Given the description of an element on the screen output the (x, y) to click on. 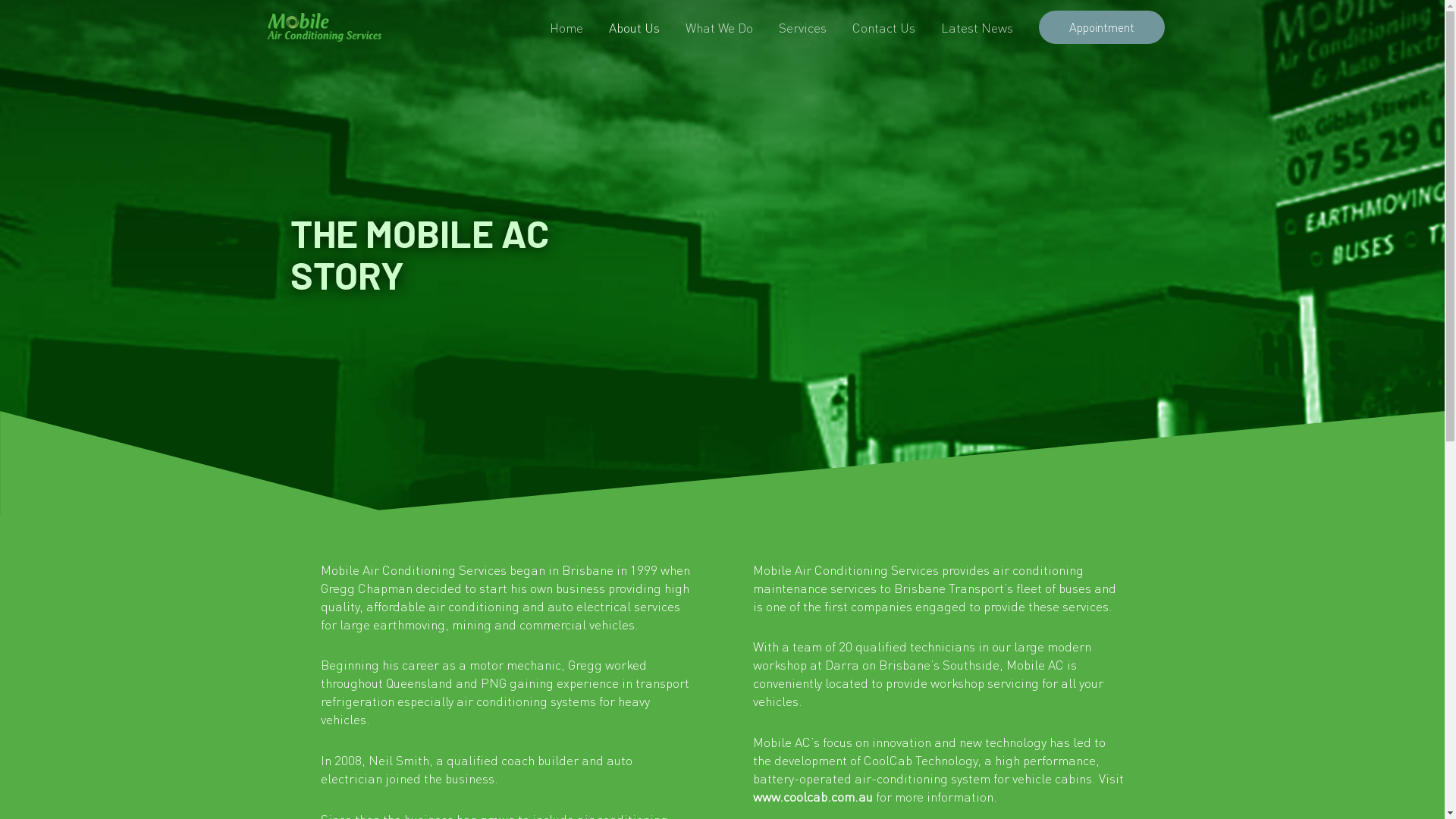
About Us Element type: text (634, 27)
Appointment Element type: text (1101, 26)
www.coolcab.com.au Element type: text (812, 795)
What We Do Element type: text (718, 27)
Services Element type: text (802, 27)
Home Element type: text (566, 27)
Contact Us Element type: text (882, 27)
Latest News Element type: text (977, 27)
